Given the description of an element on the screen output the (x, y) to click on. 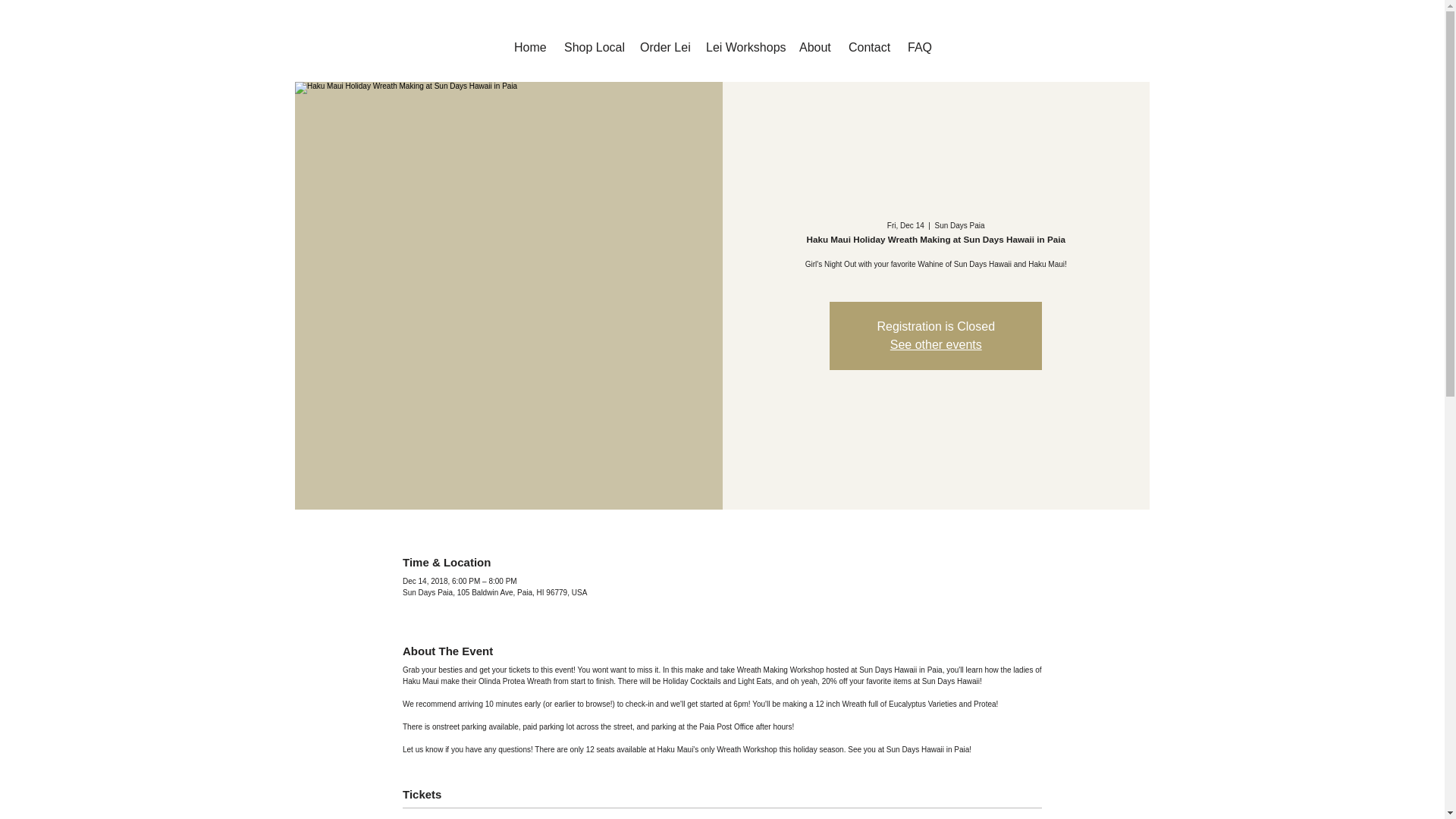
Shop Local (592, 40)
Home (528, 40)
About (813, 40)
FAQ (919, 40)
Contact (868, 40)
Order Lei (662, 40)
See other events (935, 344)
Lei Workshops (742, 40)
